Given the description of an element on the screen output the (x, y) to click on. 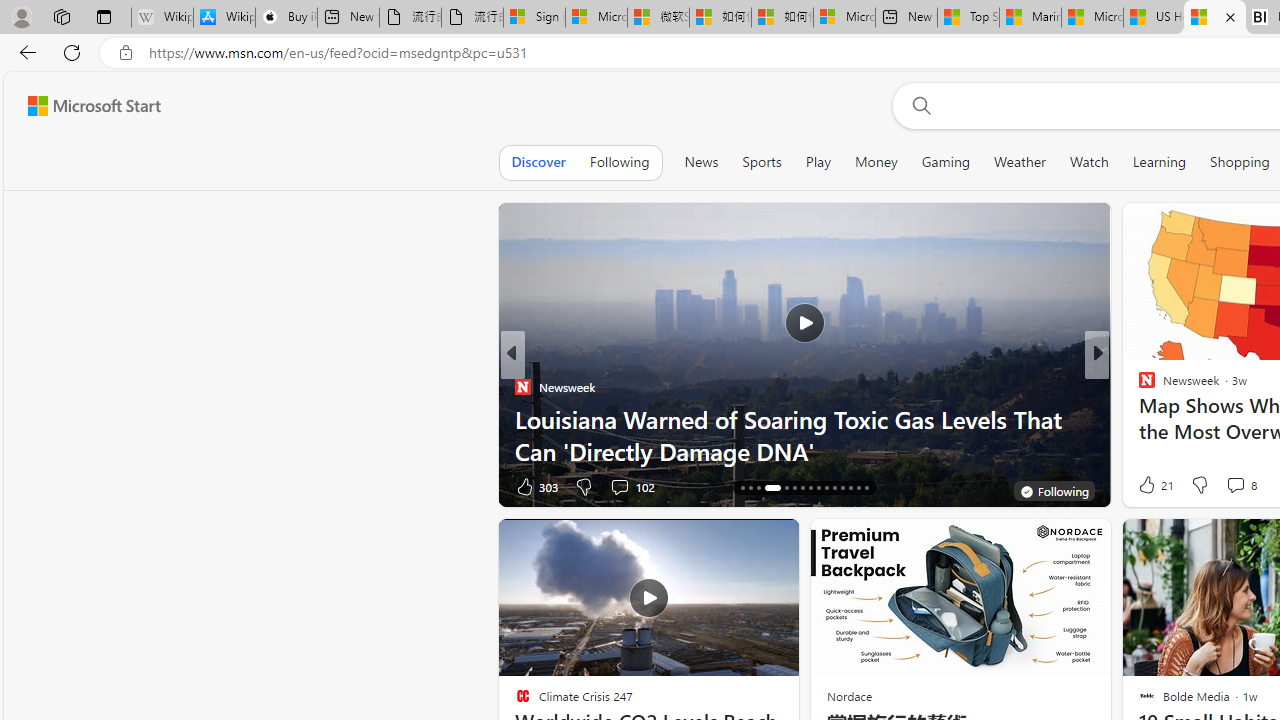
14 Like (1149, 486)
View comments 8 Comment (1240, 484)
AutomationID: tab-26 (833, 487)
7 Like (1145, 486)
37 Like (1149, 486)
303 Like (535, 486)
AutomationID: tab-23 (810, 487)
